Given the description of an element on the screen output the (x, y) to click on. 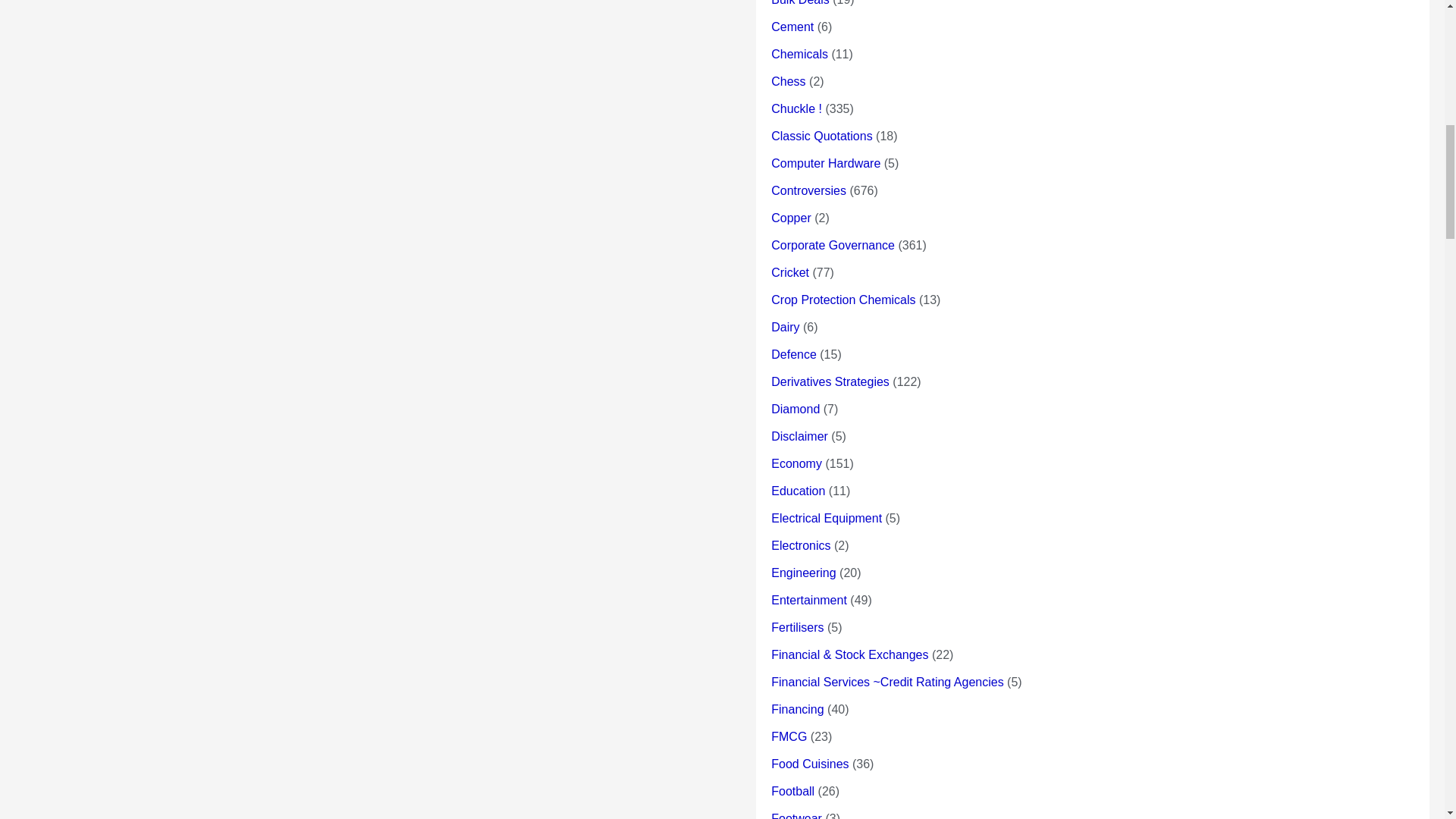
Bulk Deals (799, 2)
Classic Quotations (821, 135)
Chess (788, 81)
Chemicals (799, 53)
Cement (792, 26)
Chuckle ! (796, 108)
